Given the description of an element on the screen output the (x, y) to click on. 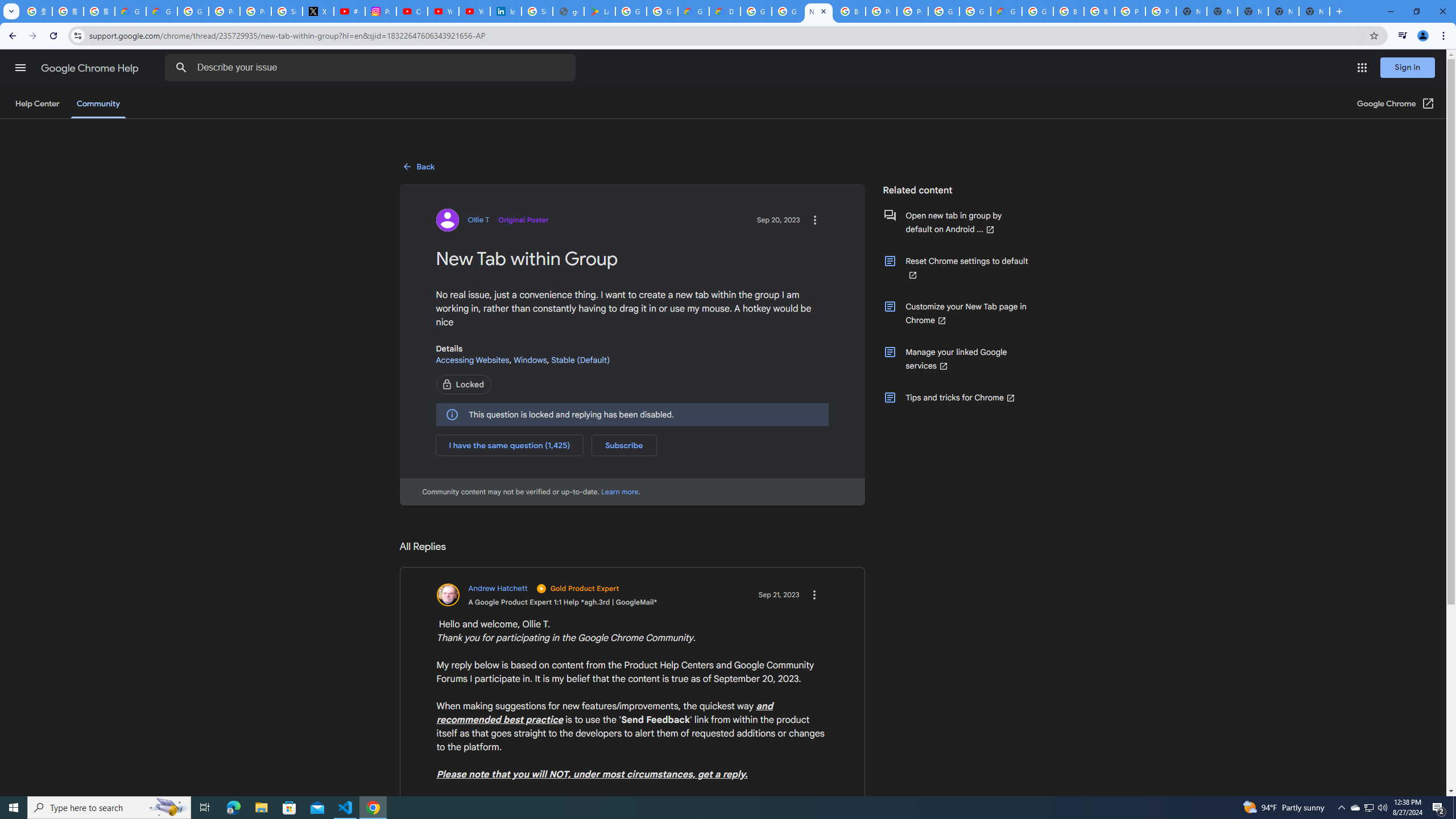
Browse Chrome as a guest - Computer - Google Chrome Help (1068, 11)
Google Cloud Estimate Summary (1005, 11)
Community content may not be verified or up-to-date. (620, 491)
Google Cloud Platform (756, 11)
Main menu (20, 67)
I have the same question (1,425) (509, 444)
